Given the description of an element on the screen output the (x, y) to click on. 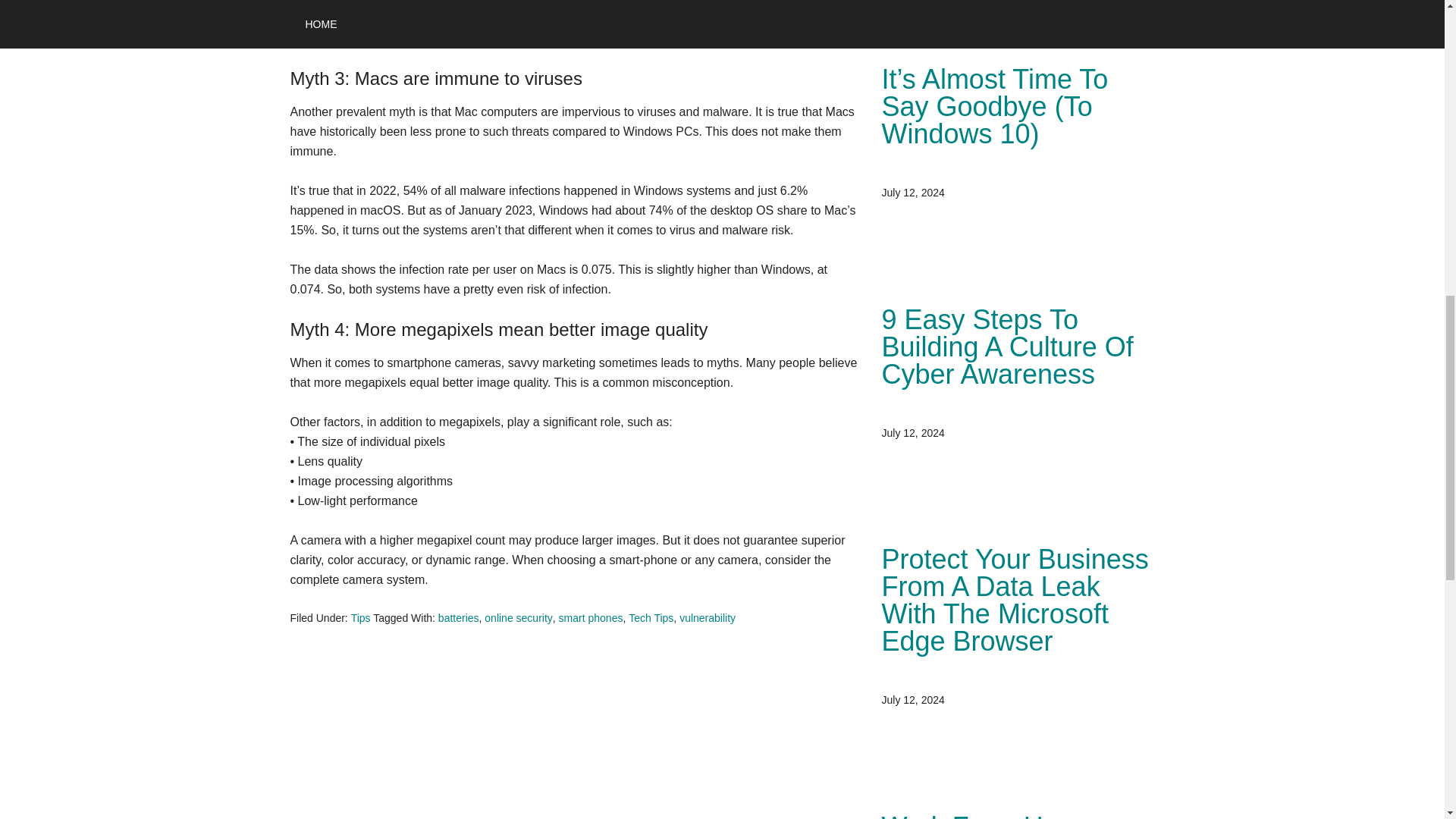
online security (518, 617)
smart phones (591, 617)
Tech Tips (650, 617)
batteries (458, 617)
vulnerability (707, 617)
9 Easy Steps To Building A Culture Of Cyber Awareness (1006, 346)
Tips (360, 617)
